Given the description of an element on the screen output the (x, y) to click on. 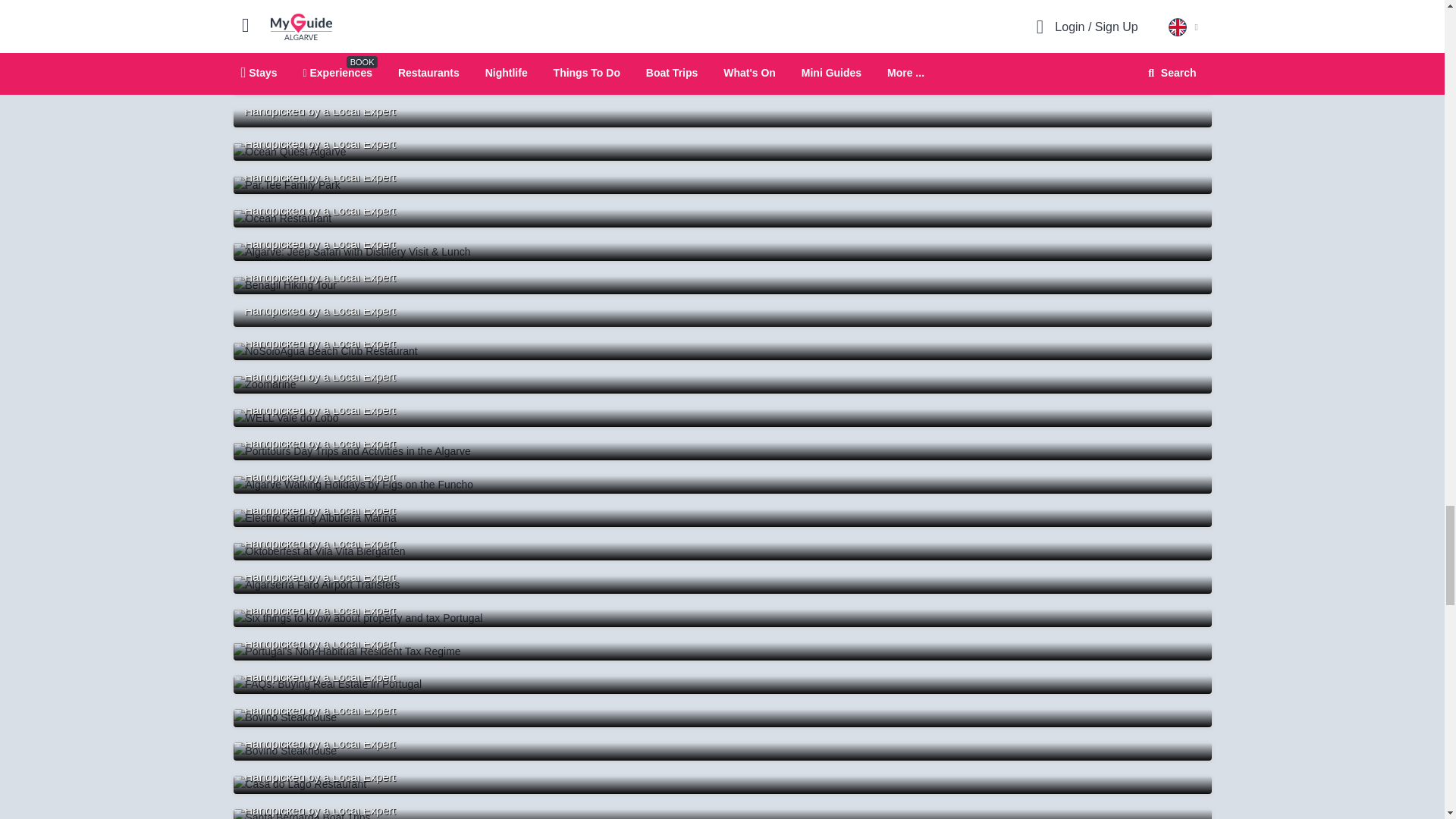
Algarve in August - Whats on (721, 85)
Top 5 Things Your Kids will Love in Algarve (721, 18)
Whats On at Quinta do Lago this Summer (721, 118)
Best Child Friendly Restaurants in Algarve (721, 185)
Best Benagil Experiences (721, 151)
Algarve Family Holiday - Things to do (721, 52)
